Given the description of an element on the screen output the (x, y) to click on. 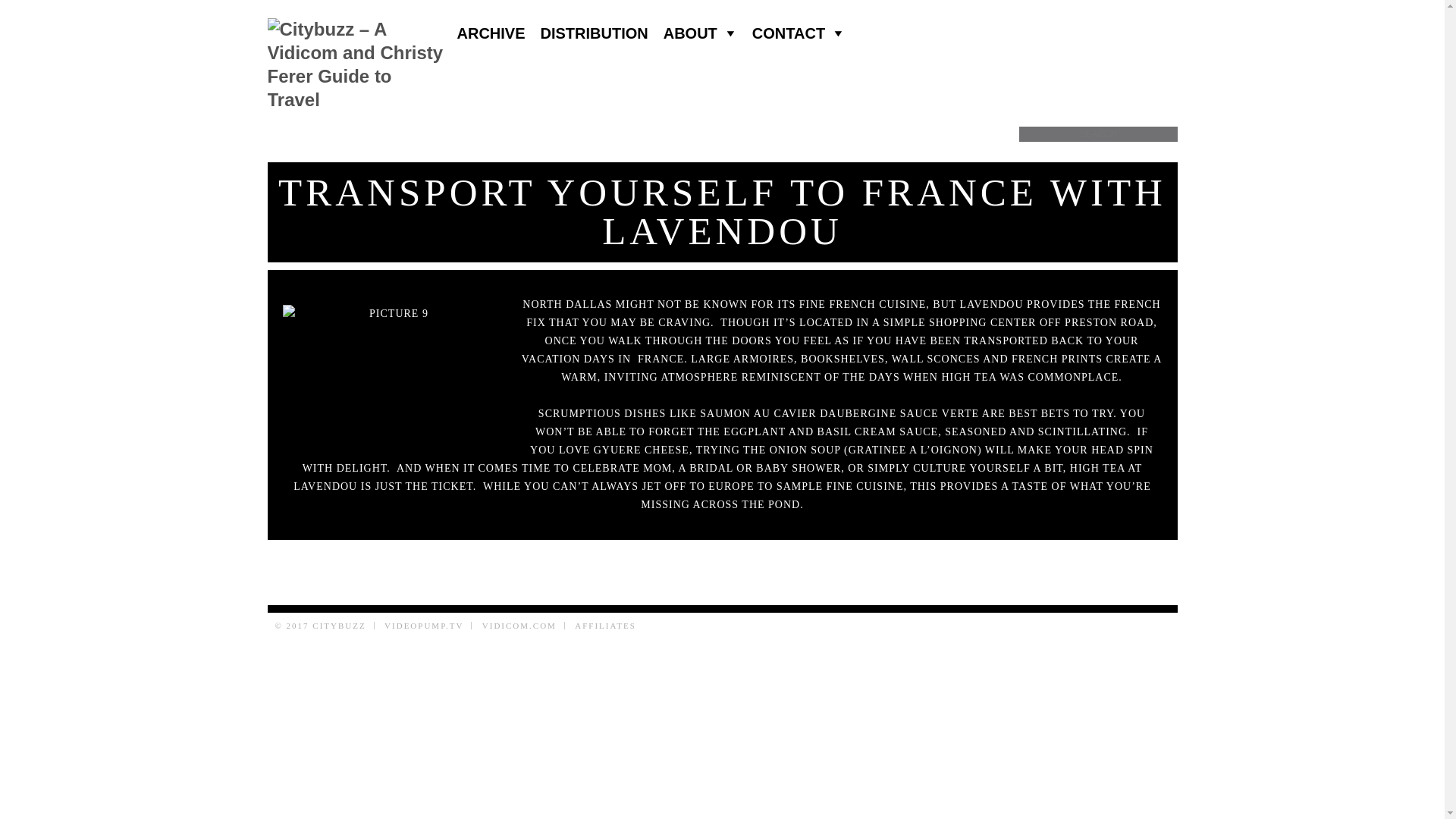
CONTACT (797, 33)
VIDICOM.COM (518, 624)
DISTRIBUTION (594, 33)
AFFILIATES (605, 624)
Picture 9 (392, 375)
ABOUT (700, 33)
ARCHIVE (490, 33)
VIDEOPUMP.TV (423, 624)
